Given the description of an element on the screen output the (x, y) to click on. 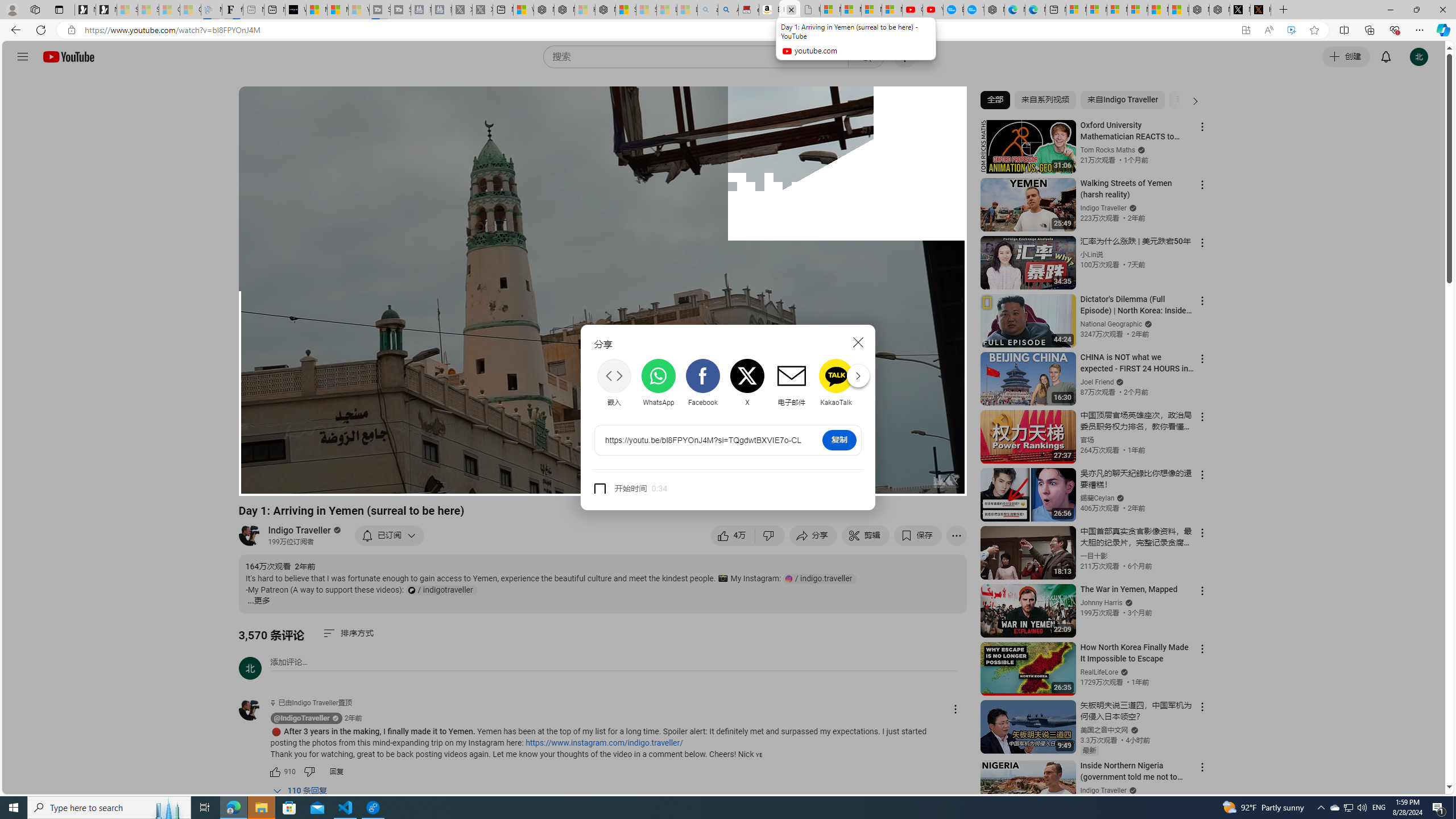
amazon - Search - Sleeping (707, 9)
The most popular Google 'how to' searches (973, 9)
Instagram Channel Link: indigo.traveller (819, 578)
Newsletter Sign Up (106, 9)
WhatsApp (658, 383)
